Given the description of an element on the screen output the (x, y) to click on. 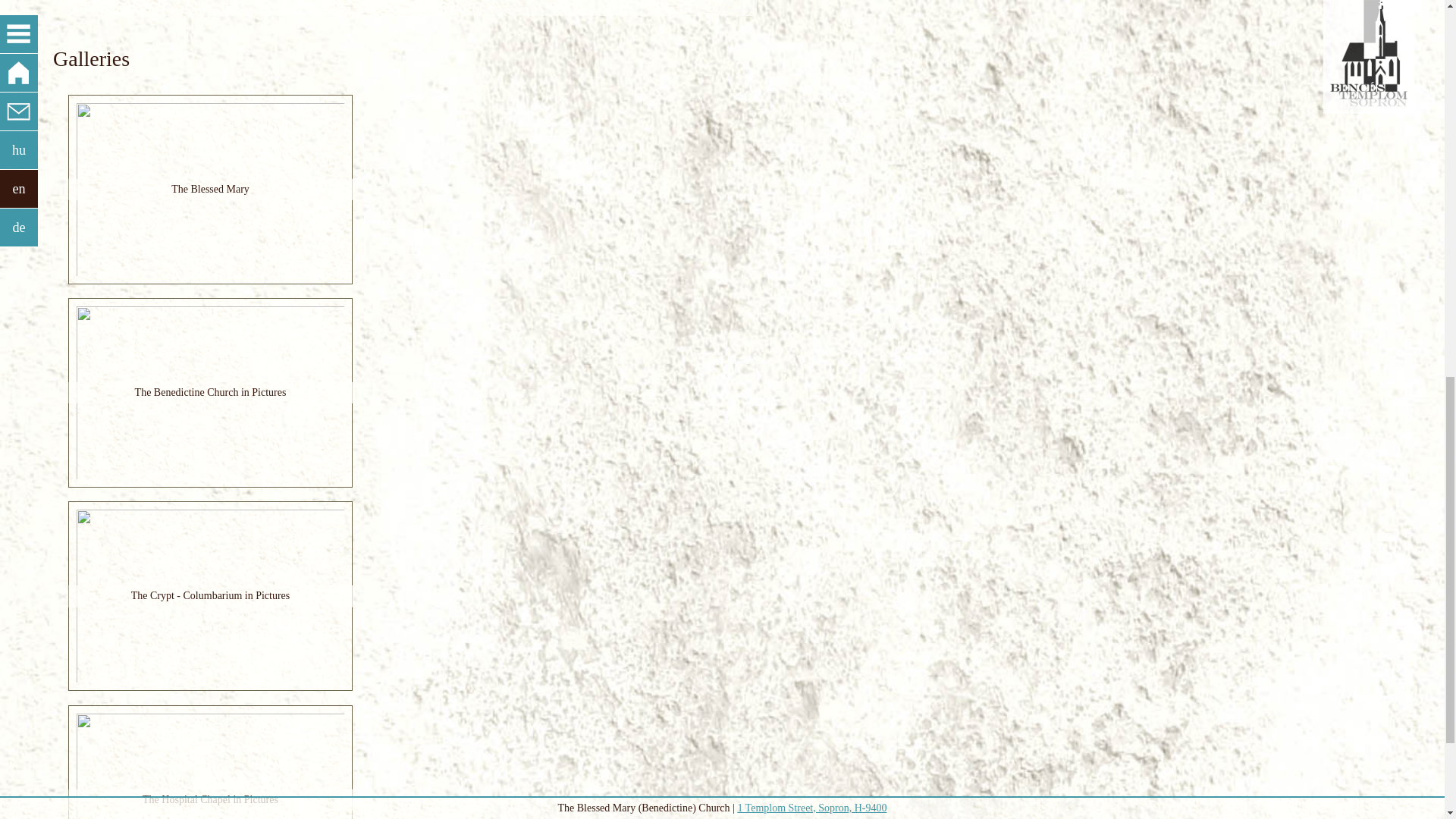
The Crypt - Columbarium in Pictures (210, 595)
The Benedictine Church in Pictures (210, 392)
The Hospital Chapel in Pictures (210, 799)
The Blessed Mary (210, 188)
